Given the description of an element on the screen output the (x, y) to click on. 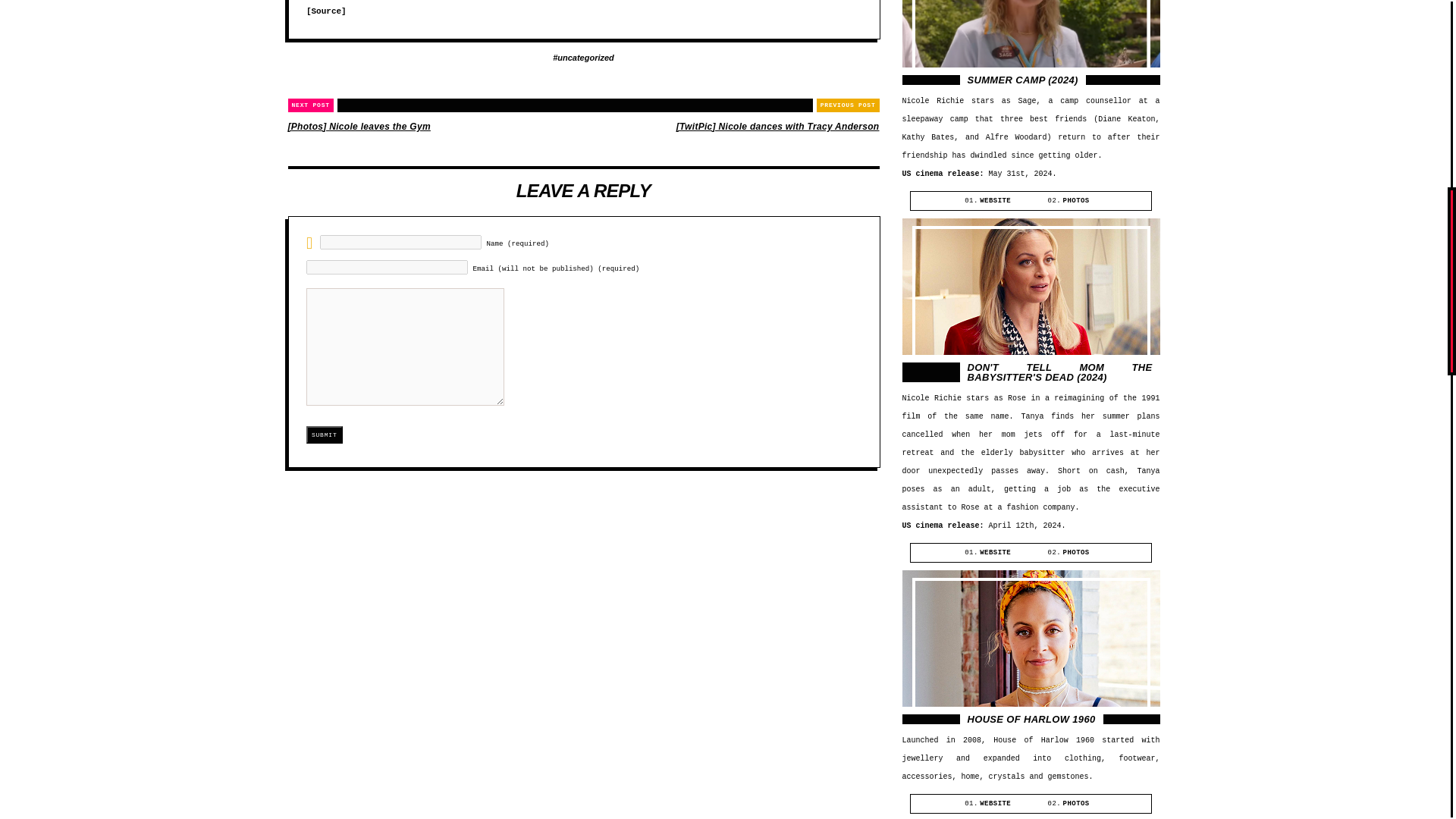
Submit (323, 434)
WEBSITE (994, 803)
Submit (323, 434)
WEBSITE (994, 200)
PHOTOS (1075, 803)
PHOTOS (1075, 200)
uncategorized (583, 57)
WEBSITE (994, 552)
PHOTOS (1075, 552)
